Given the description of an element on the screen output the (x, y) to click on. 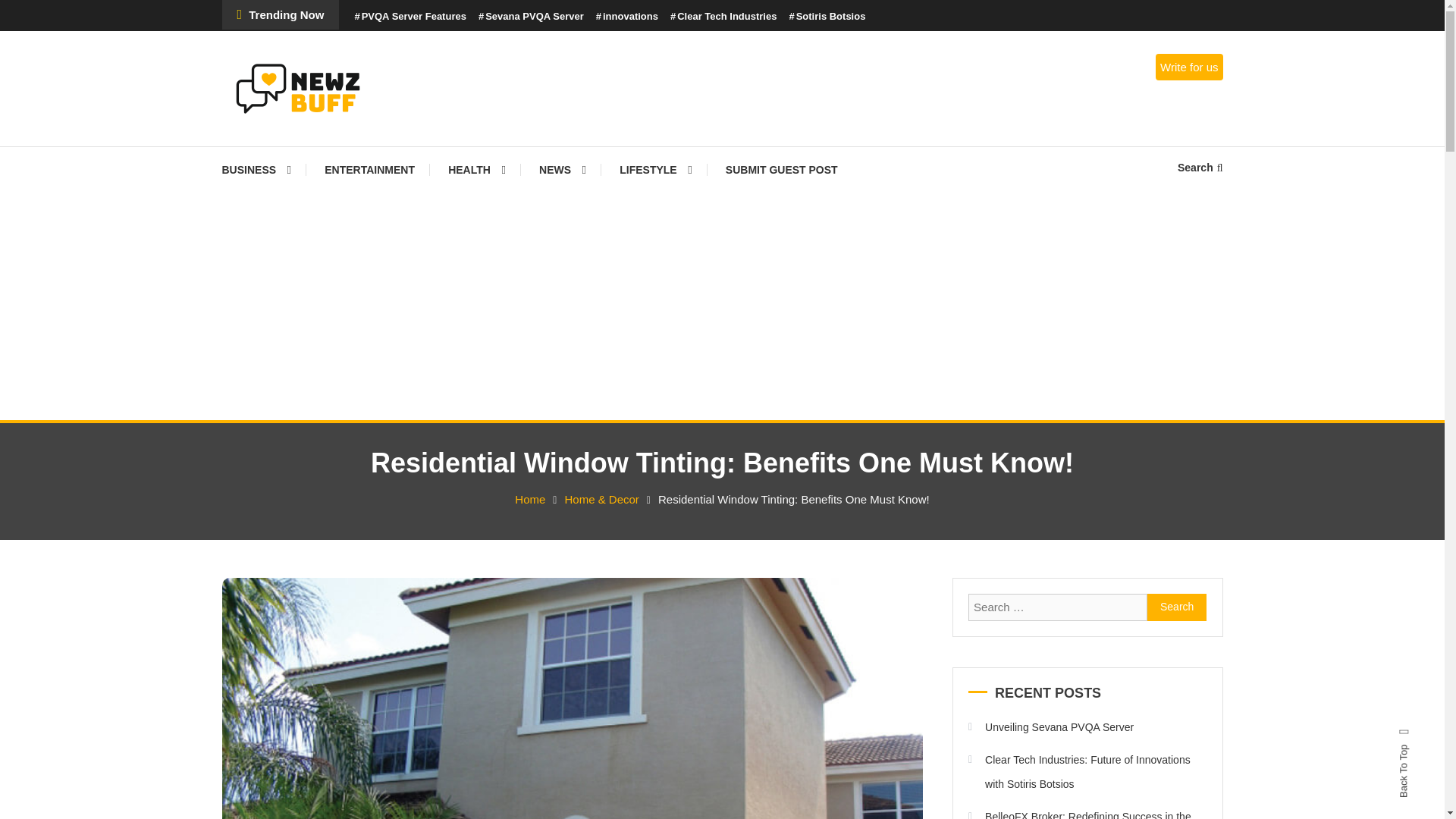
Search (1200, 167)
LIFESTYLE (655, 169)
innovations (626, 16)
ENTERTAINMENT (368, 169)
HEALTH (476, 169)
Search (768, 432)
NEWS (562, 169)
SUBMIT GUEST POST (781, 169)
Home (529, 499)
Search (1177, 606)
BUSINESS (263, 169)
Sevana PVQA Server (531, 16)
Search (1177, 606)
Sotiris Botsios (826, 16)
